Given the description of an element on the screen output the (x, y) to click on. 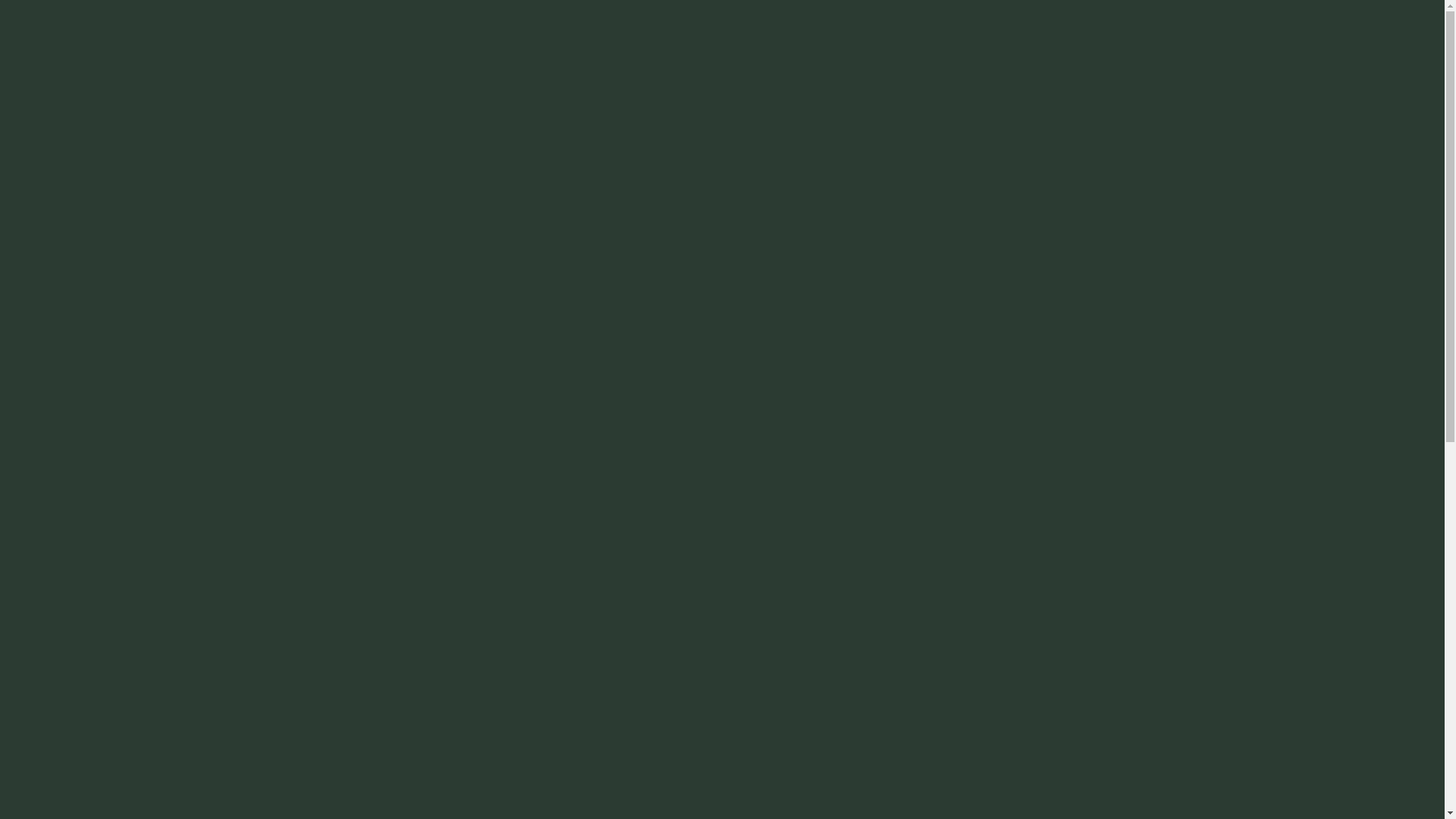
Register Element type: text (802, 589)
